Given the description of an element on the screen output the (x, y) to click on. 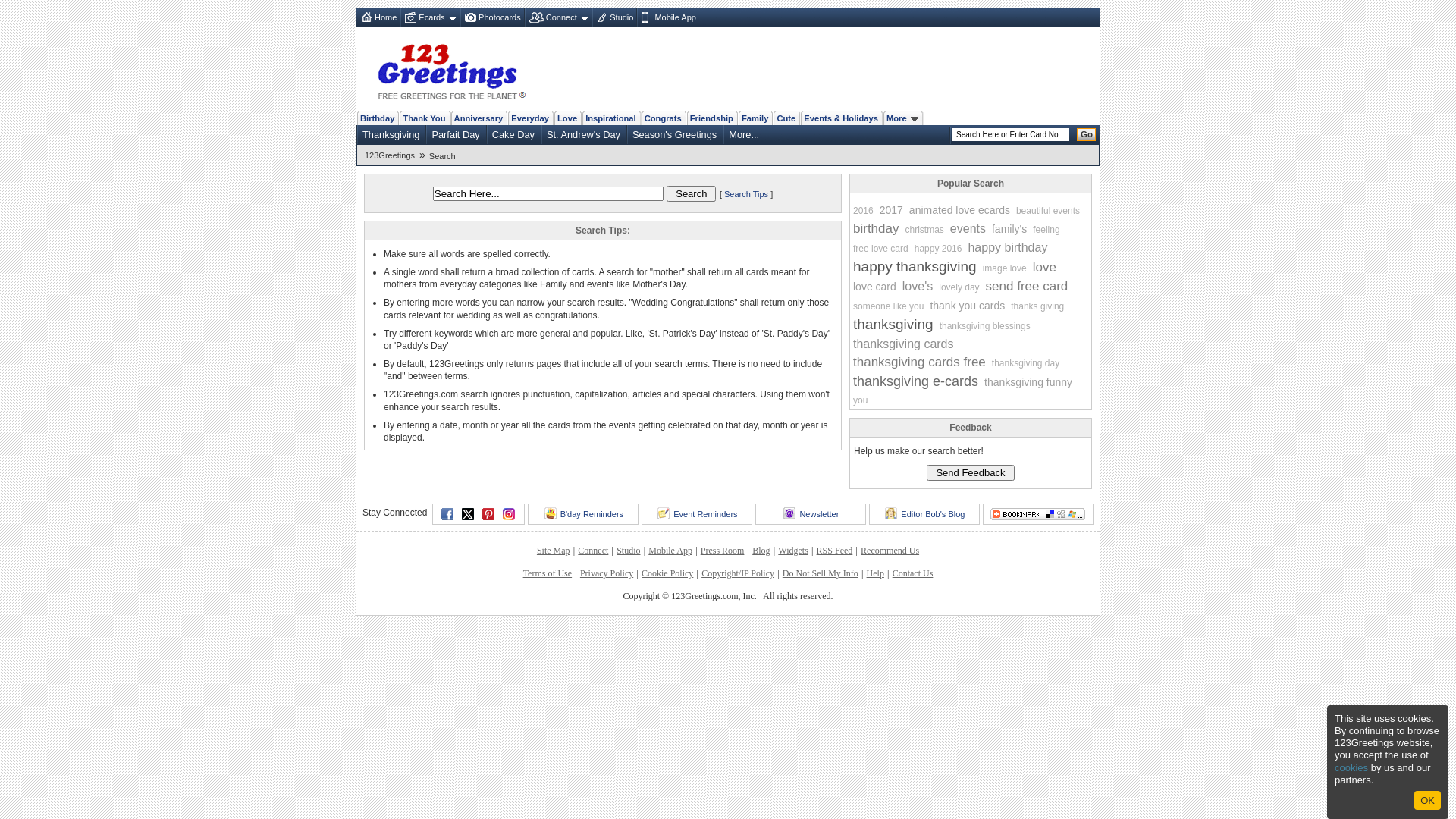
Home Element type: text (377, 17)
Instagram Element type: hover (508, 514)
Privacy Policy Element type: text (606, 572)
Bookmark Element type: hover (1037, 513)
happy birthday Element type: text (1007, 247)
events Element type: text (967, 228)
Widgets Element type: text (793, 550)
Event Reminders Element type: text (696, 513)
cookies Element type: text (1351, 767)
someone like you Element type: text (888, 306)
St. Andrew's Day Element type: text (583, 134)
Twitter Element type: hover (467, 514)
Blog Element type: text (760, 550)
Cake Day Element type: text (513, 134)
thanksgiving funny Element type: text (1028, 382)
OK Element type: text (1427, 799)
Contact Us Element type: text (912, 572)
Press Room Element type: text (722, 550)
Search Tips Element type: text (746, 193)
Birthday Element type: text (377, 117)
christmas Element type: text (923, 229)
2017 Element type: text (891, 209)
beautiful events Element type: text (1047, 210)
Mobile App Element type: text (670, 550)
Love Element type: text (567, 117)
Newsletter Element type: text (810, 513)
image love Element type: text (1004, 268)
happy 2016 Element type: text (938, 248)
Do Not Sell My Info Element type: text (820, 572)
RSS Feed Element type: text (834, 550)
Events & Holidays Element type: text (840, 117)
feeling Element type: text (1045, 229)
thanksgiving day Element type: text (1025, 363)
Recommend Us Element type: text (889, 550)
Anniversary Element type: text (478, 117)
thanksgiving cards free Element type: text (919, 362)
Help Element type: text (875, 572)
Copyright/IP Policy Element type: text (737, 572)
Studio Element type: text (613, 17)
thanksgiving Element type: text (893, 324)
thanks giving Element type: text (1036, 306)
Thanksgiving Element type: text (390, 134)
Family Element type: text (754, 117)
thanksgiving cards Element type: text (903, 344)
thanksgiving blessings Element type: text (984, 325)
Facebook Element type: hover (447, 514)
happy thanksgiving Element type: text (914, 266)
family's Element type: text (1008, 228)
Photocards Element type: text (491, 17)
thanksgiving e-cards Element type: text (915, 381)
Connect Element type: text (592, 550)
Inspirational Element type: text (610, 117)
thank you cards Element type: text (966, 305)
Pinterest Element type: hover (488, 514)
Everyday Element type: text (530, 117)
2016 Element type: text (863, 210)
free love card Element type: text (880, 248)
Ecards Element type: text (429, 17)
love's Element type: text (917, 286)
Friendship Element type: text (711, 117)
send free card Element type: text (1026, 286)
lovely day Element type: text (958, 287)
you Element type: text (860, 400)
love Element type: text (1044, 267)
123Greetings.com, Free Greetings for the Planet Element type: hover (451, 68)
Editor Bob's Blog Element type: text (924, 513)
123Greetings Element type: text (391, 155)
Cute Element type: text (785, 117)
Thank You Element type: text (423, 117)
Terms of Use Element type: text (547, 572)
More... Element type: text (743, 134)
B'day Reminders Element type: text (582, 513)
birthday Element type: text (875, 228)
Search Element type: text (444, 155)
Season's Greetings Element type: text (674, 134)
Mobile App Element type: text (667, 17)
Site Map Element type: text (553, 550)
Go Element type: text (1085, 134)
animated love ecards Element type: text (959, 209)
Connect Element type: text (557, 17)
Parfait Day Element type: text (454, 134)
Send Feedback Element type: text (969, 472)
Cookie Policy Element type: text (667, 572)
Studio Element type: text (628, 550)
Congrats Element type: text (662, 117)
love card Element type: text (874, 286)
Search Element type: text (690, 193)
More Element type: text (902, 117)
